Given the description of an element on the screen output the (x, y) to click on. 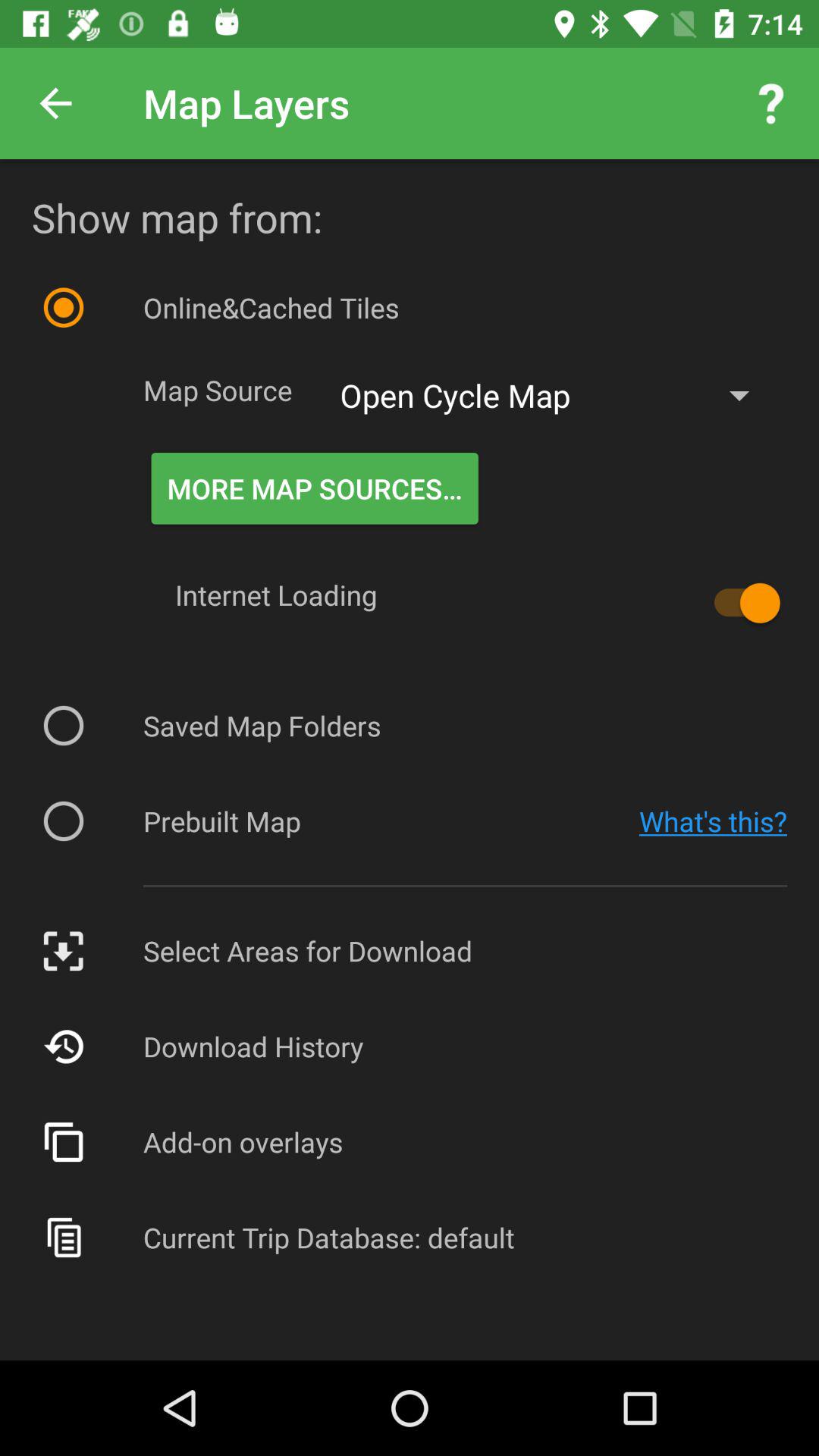
tap the icon below the open cycle map (314, 488)
